Given the description of an element on the screen output the (x, y) to click on. 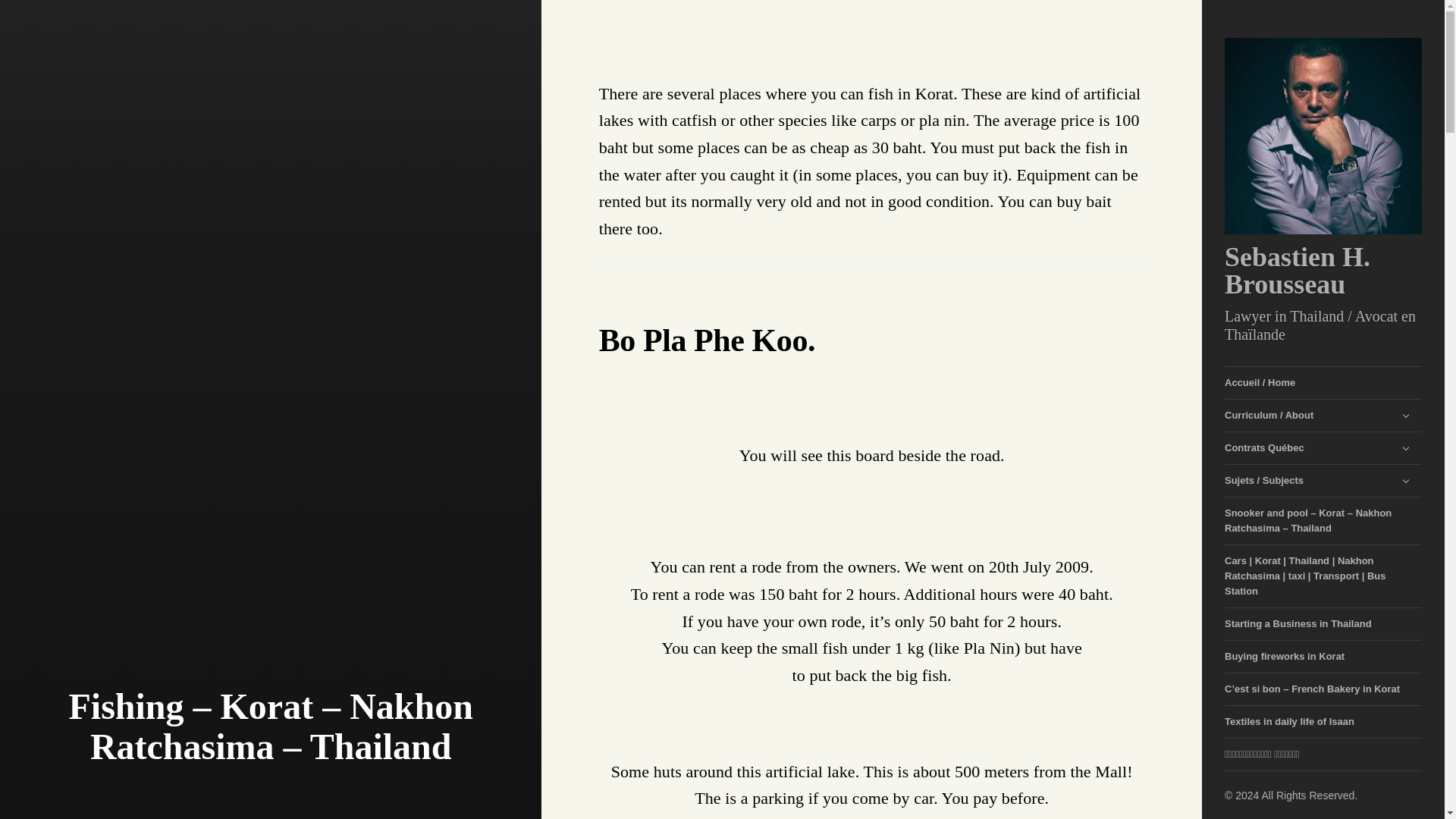
Buying fireworks in Korat (1323, 656)
Textiles in daily life of Isaan (1323, 721)
Starting a Business in Thailand (1323, 624)
